Given the description of an element on the screen output the (x, y) to click on. 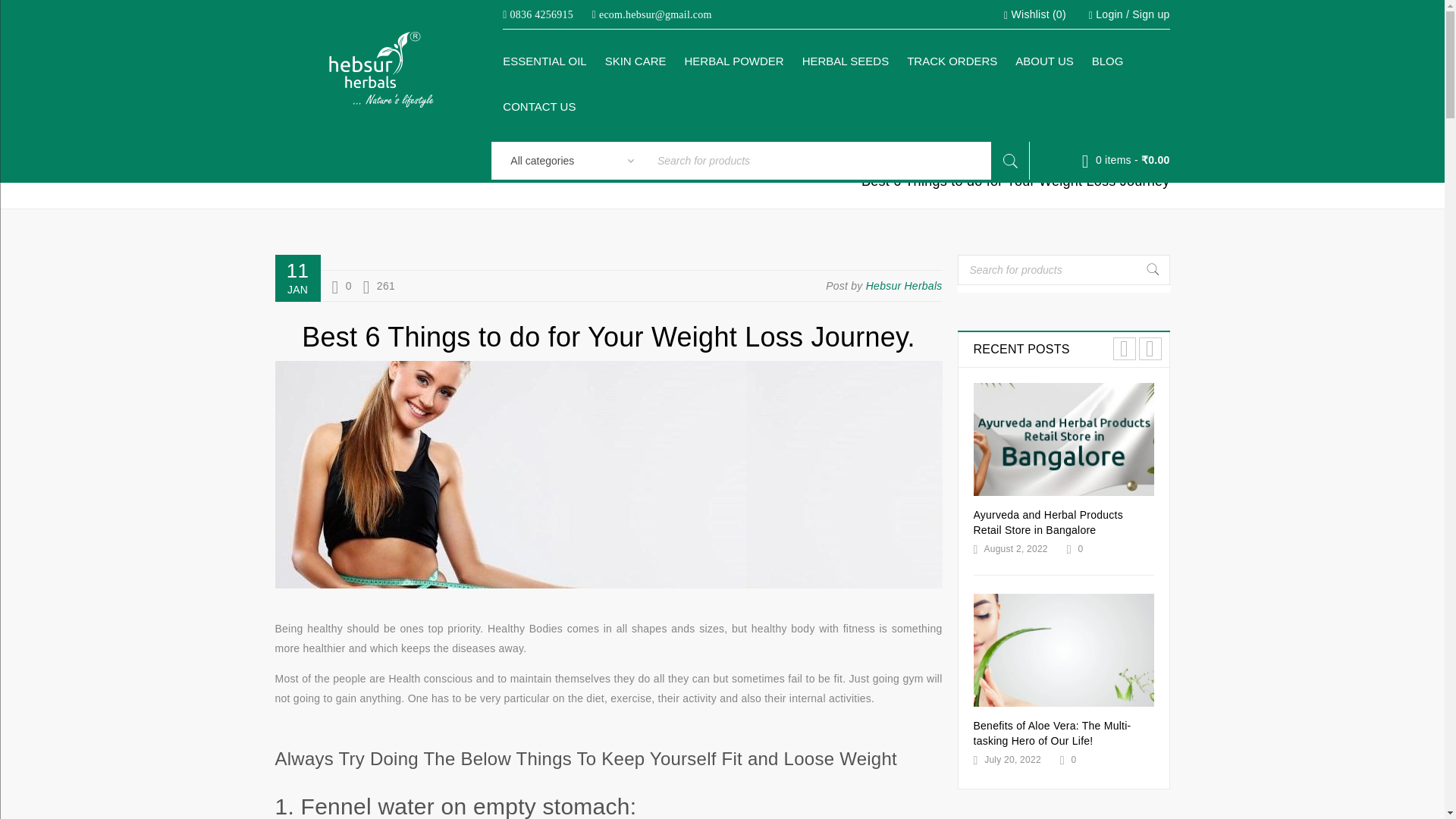
Home (1042, 162)
HERBAL SEEDS (845, 61)
Login (1109, 14)
Sign up (1150, 14)
Create New Account (1150, 14)
TRACK ORDERS (952, 61)
ESSENTIAL OIL (544, 61)
Wellness (1117, 162)
Search (1010, 160)
Wishlist (1034, 14)
Search (1010, 160)
View your shopping bag (1125, 159)
Hebsur Herbals (904, 285)
CONTACT US (538, 106)
